Given the description of an element on the screen output the (x, y) to click on. 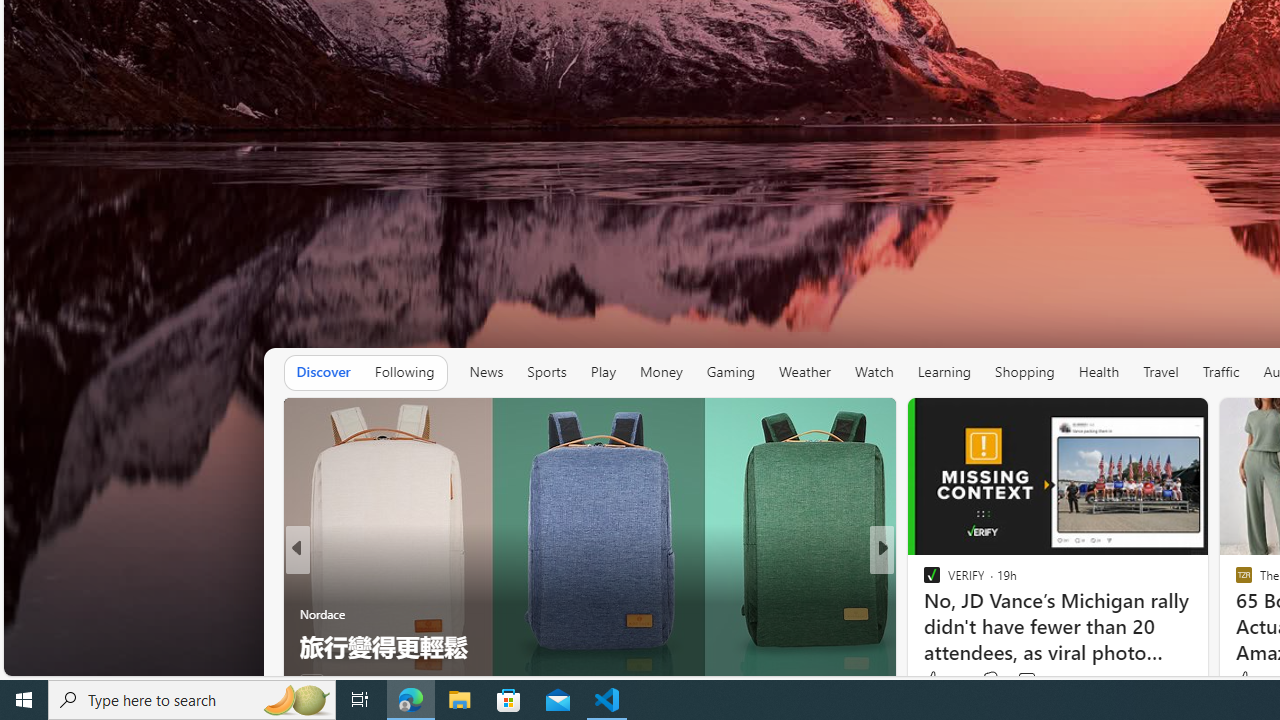
35 Like (934, 681)
View comments 142 Comment (1013, 681)
Learning (944, 372)
Reader's Digest (923, 614)
InStyle (923, 581)
View comments 121 Comment (1039, 680)
Money (661, 372)
View comments 180 Comment (1032, 681)
Play (602, 371)
Health (1099, 371)
Shopping (1025, 372)
View comments 142 Comment (1025, 681)
View comments 23 Comment (1029, 681)
